Given the description of an element on the screen output the (x, y) to click on. 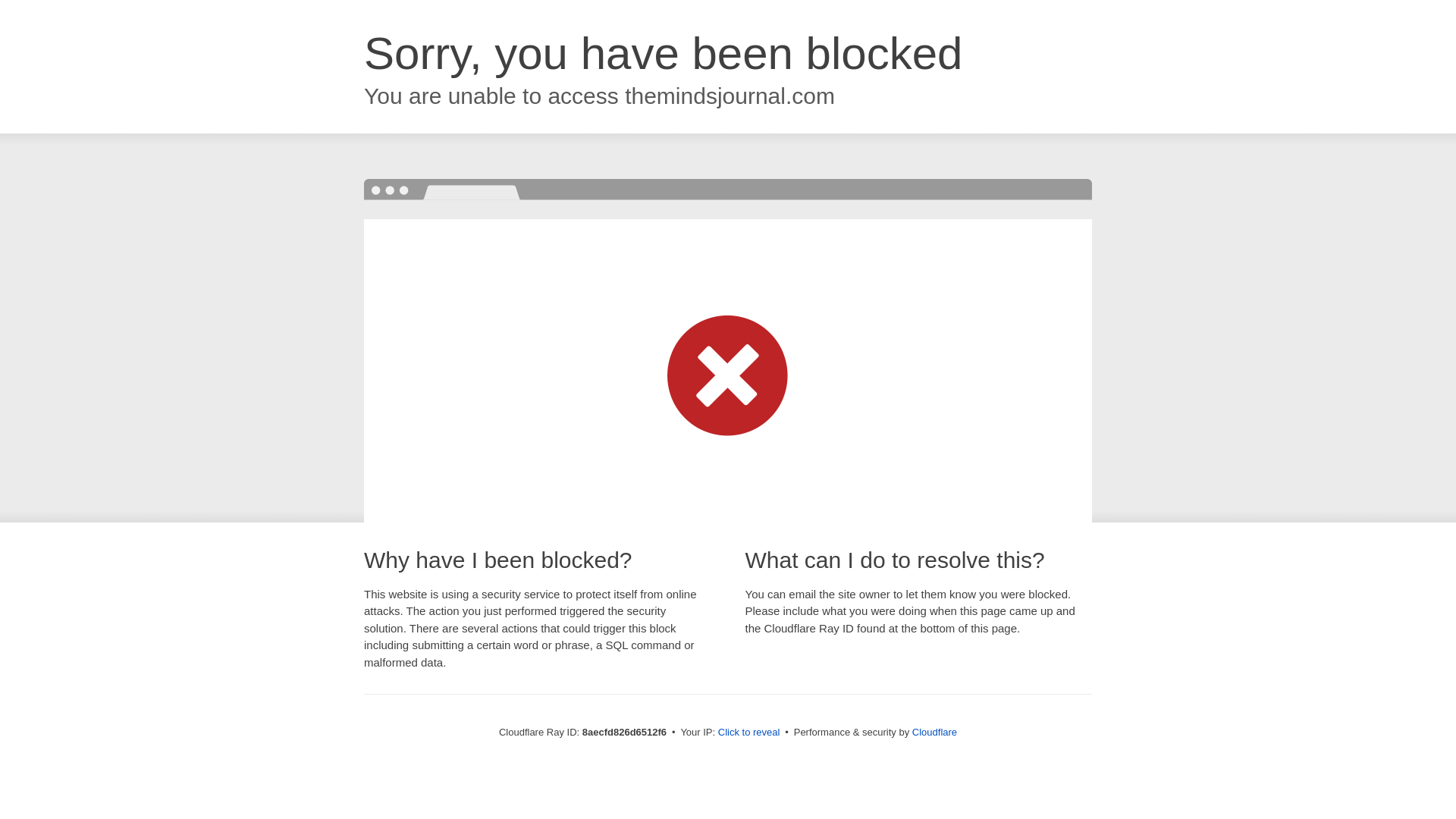
Cloudflare (934, 731)
Click to reveal (748, 732)
